Given the description of an element on the screen output the (x, y) to click on. 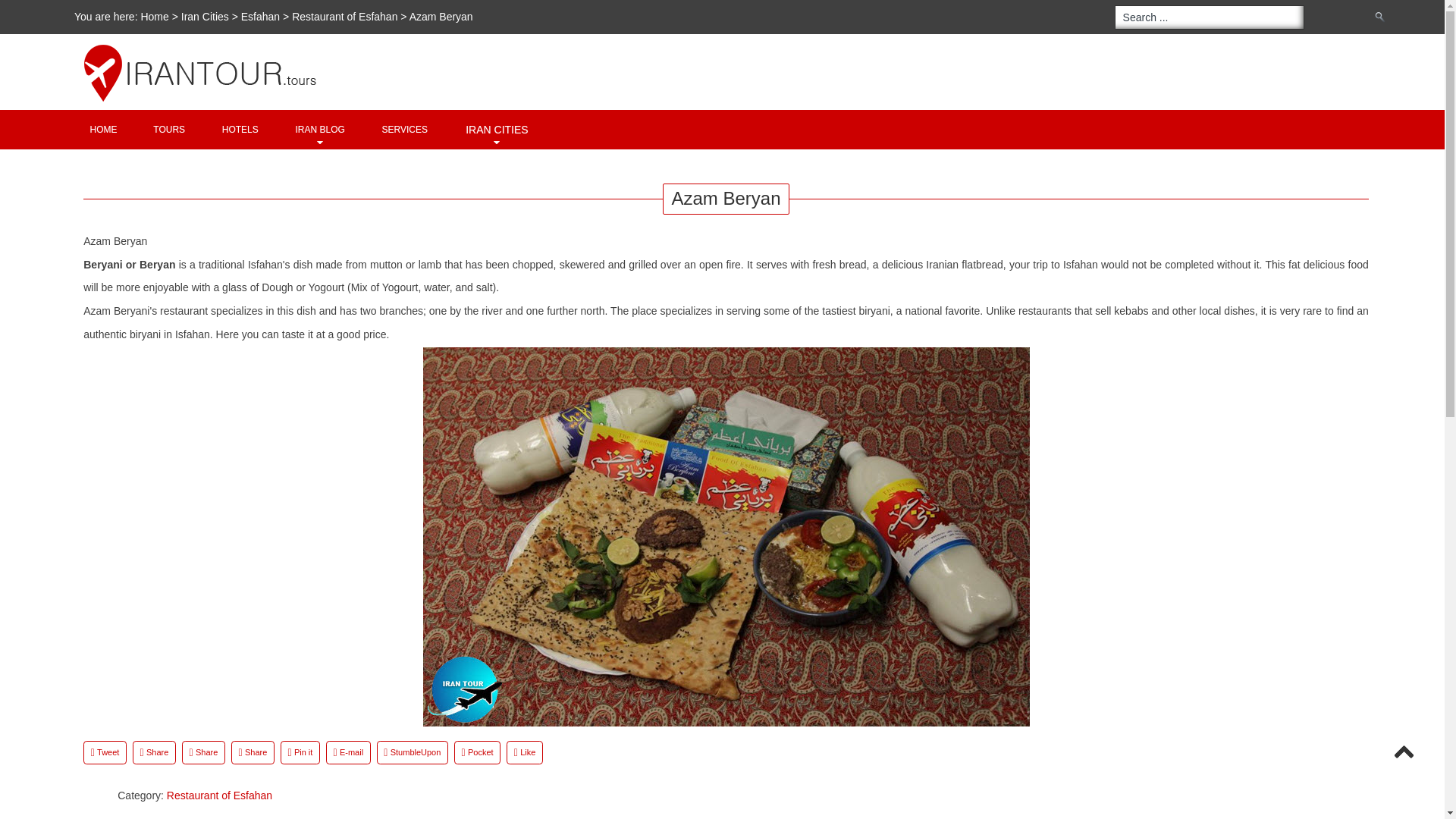
Tours (168, 129)
irantour.tours (735, 44)
Home (154, 16)
Restaurant of Esfahan (344, 16)
SERVICES (404, 129)
IRAN CITIES (496, 129)
TOURS (168, 129)
HOME (103, 129)
Home (103, 129)
Search ... (1209, 16)
IRAN BLOG (320, 129)
HOTELS (239, 129)
Esfahan (260, 16)
